Given the description of an element on the screen output the (x, y) to click on. 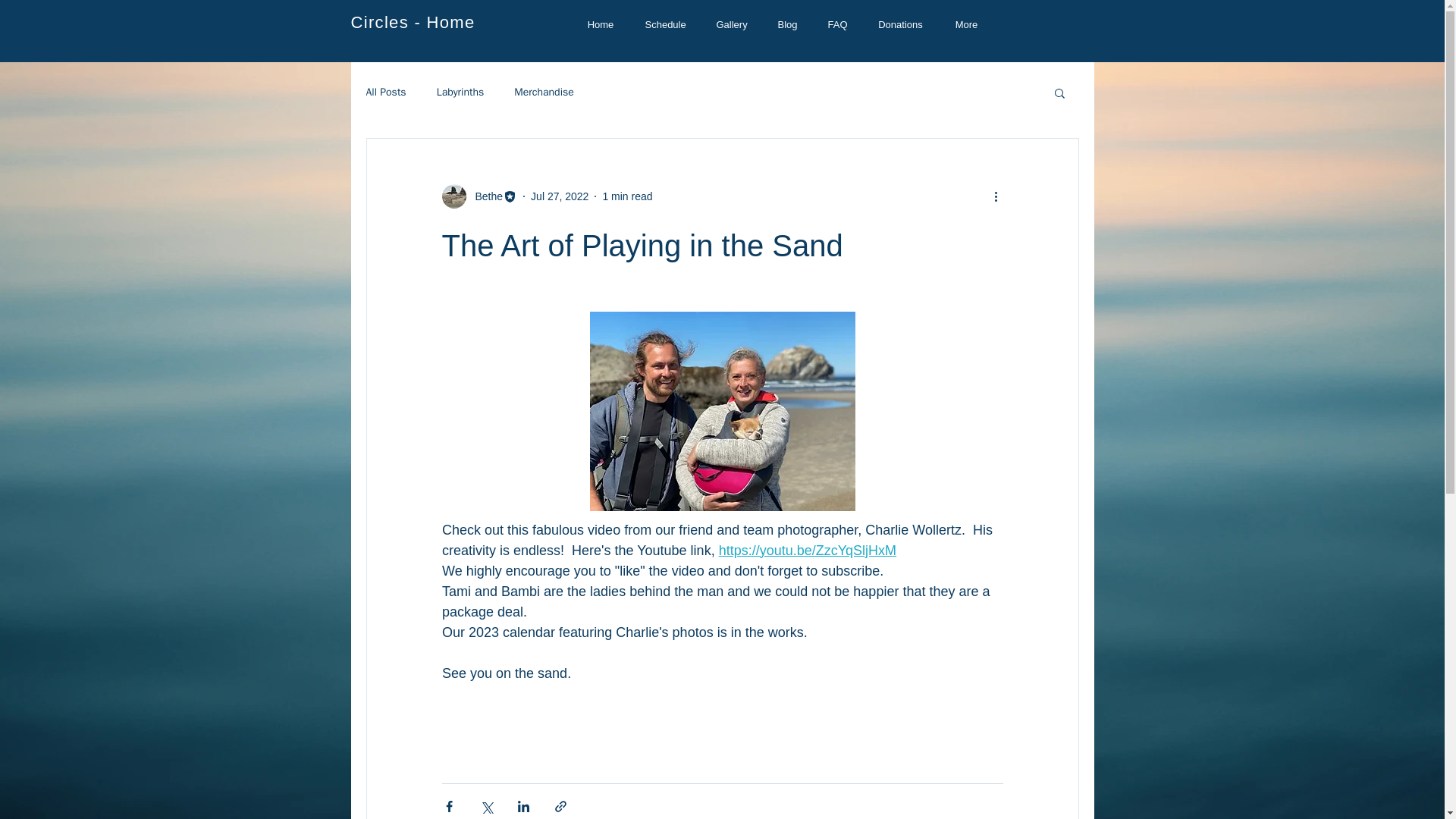
Bethe (483, 195)
FAQ (836, 24)
Circles - Home (412, 22)
Gallery (730, 24)
Jul 27, 2022 (559, 195)
1 min read (627, 195)
Labyrinths (460, 92)
Merchandise (543, 92)
All Posts (385, 92)
Bethe (478, 196)
Schedule (664, 24)
Home (601, 24)
Donations (900, 24)
Blog (787, 24)
